Given the description of an element on the screen output the (x, y) to click on. 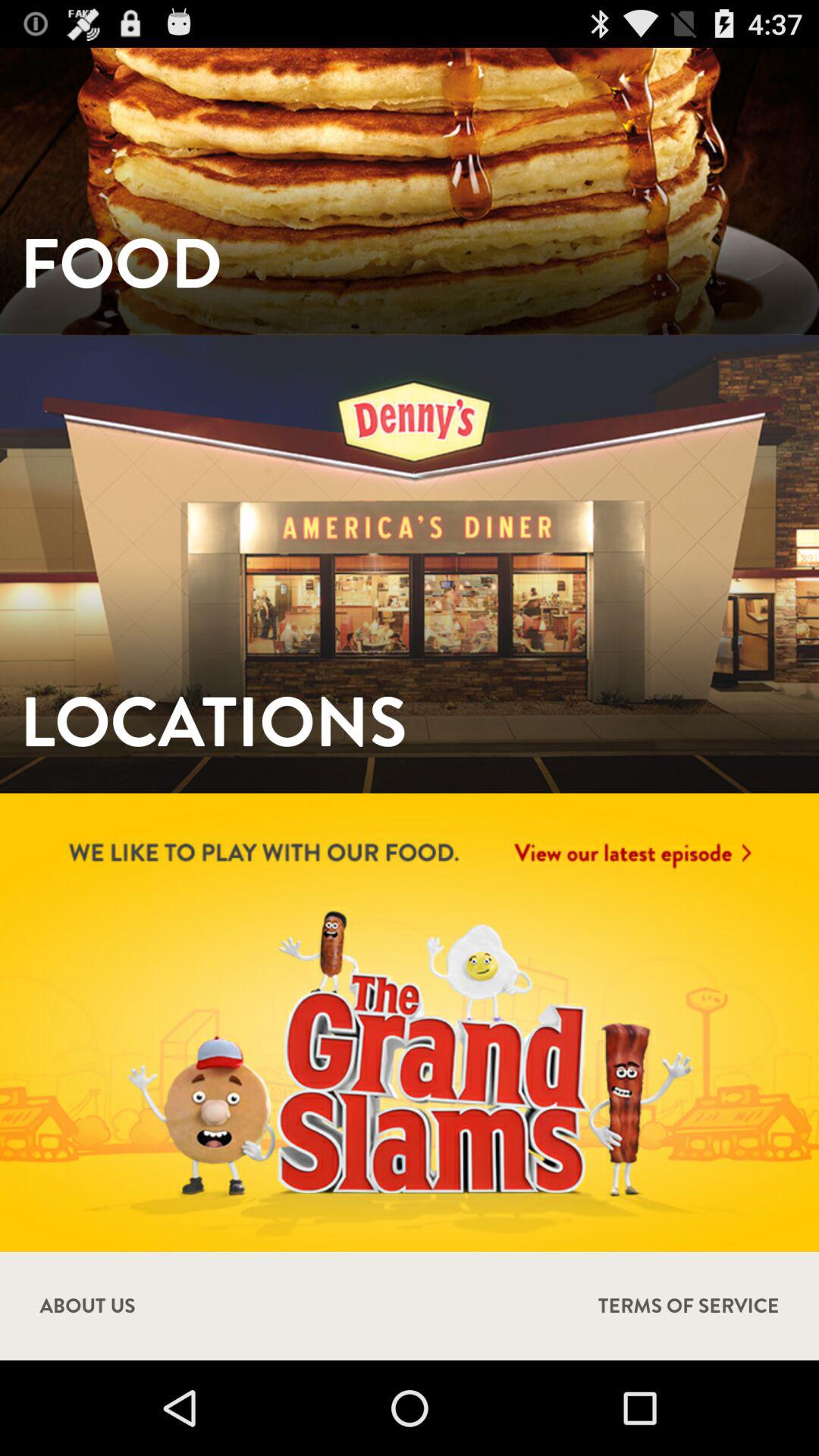
open icon next to the about us (688, 1305)
